Given the description of an element on the screen output the (x, y) to click on. 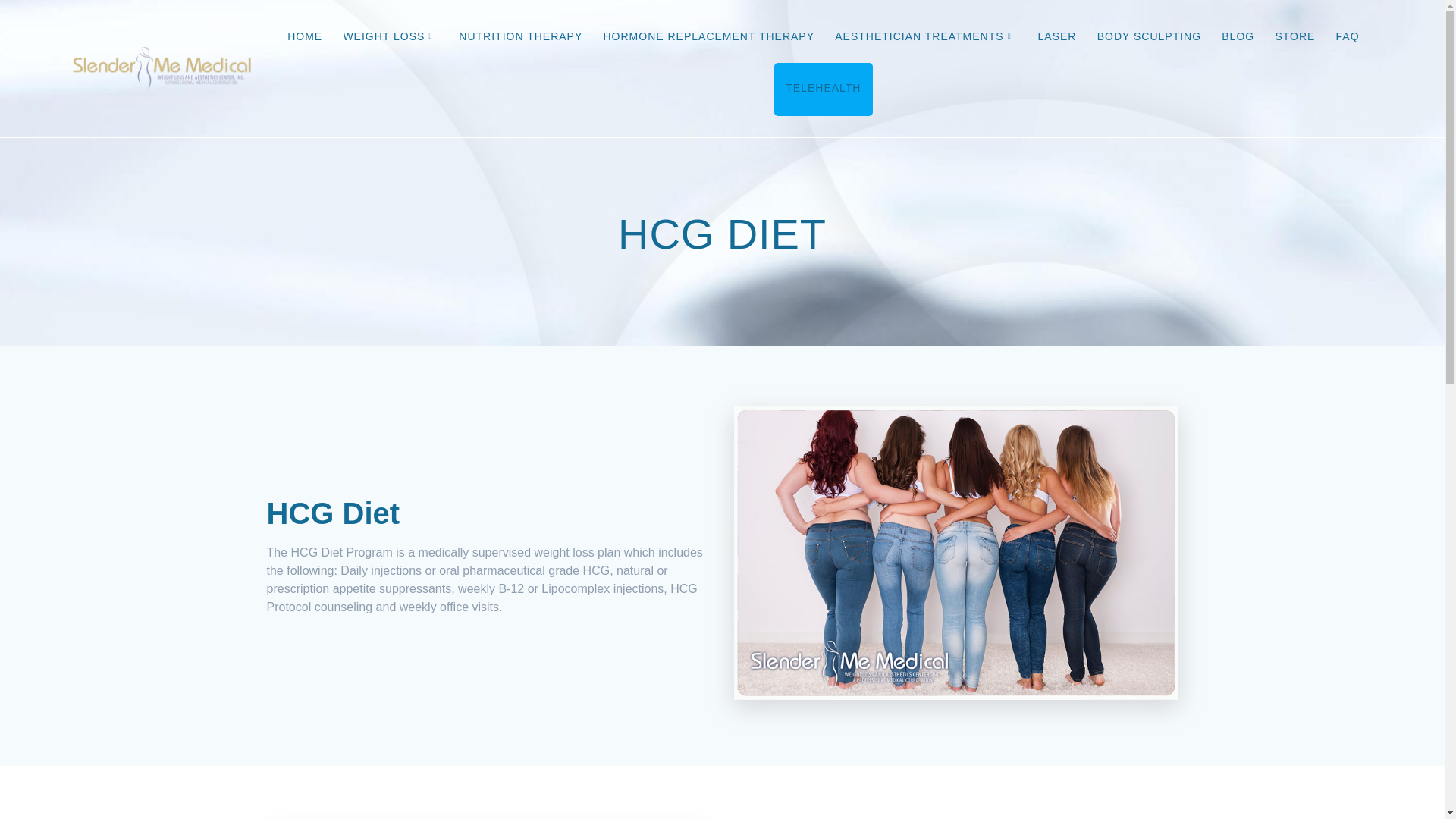
LASER (1057, 37)
AESTHETICIAN TREATMENTS (925, 37)
BODY SCULPTING (1149, 37)
NUTRITION THERAPY (520, 37)
WEIGHT LOSS (390, 37)
HGC Diet (955, 553)
HOME (303, 37)
HORMONE REPLACEMENT THERAPY (707, 37)
BLOG (1237, 37)
TELEHEALTH (823, 89)
STORE (1294, 37)
